Given the description of an element on the screen output the (x, y) to click on. 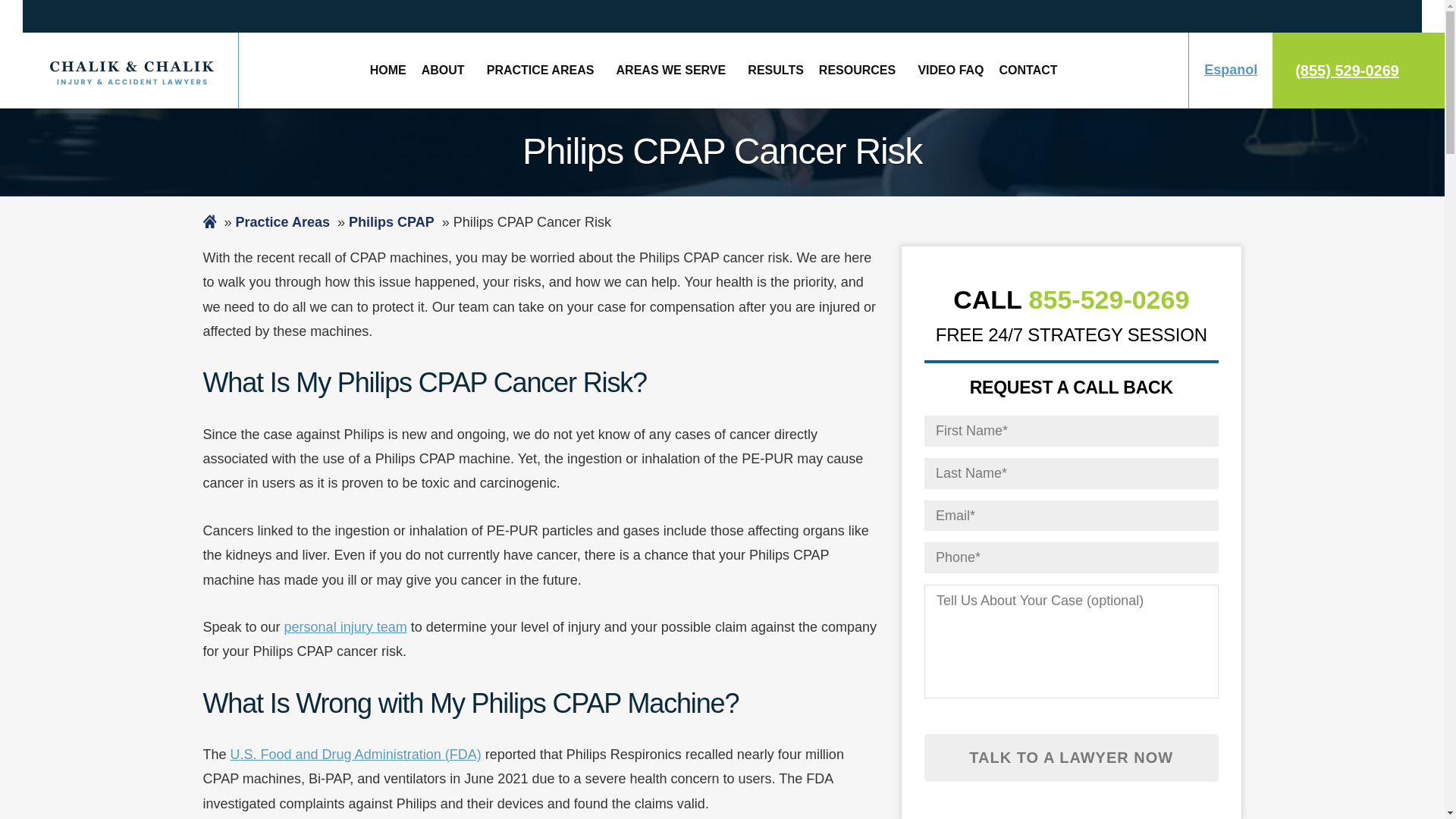
Florida Resources (860, 70)
Areas We Serve (674, 70)
AREAS WE SERVE (674, 70)
Florida Personal Injury Lawyer (387, 70)
Contact (1028, 70)
ABOUT (446, 70)
PRACTICE AREAS (543, 70)
Talk To A Lawyer Now (1071, 757)
HOME (387, 70)
Personal Injury Practice Areas (543, 70)
